Given the description of an element on the screen output the (x, y) to click on. 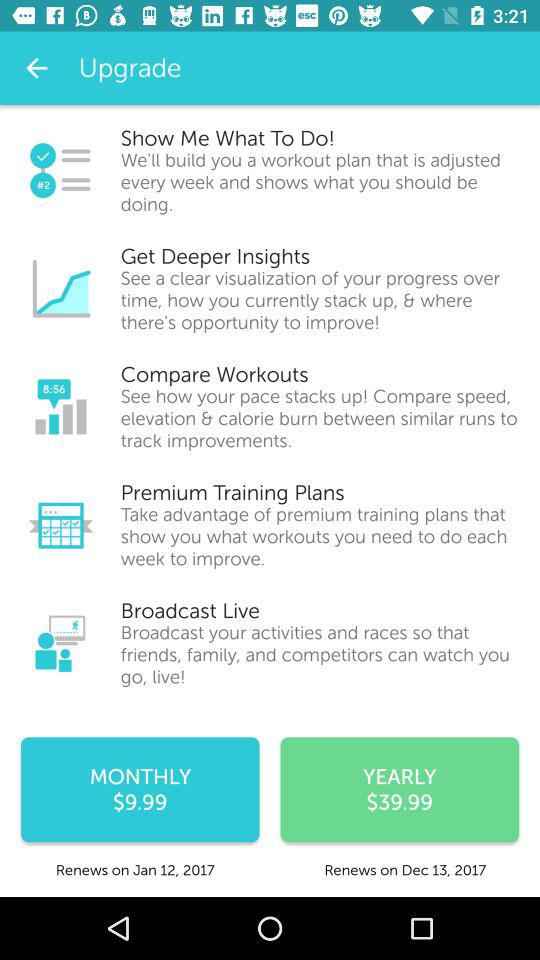
click item next to the monthly
$9.99 icon (399, 789)
